Given the description of an element on the screen output the (x, y) to click on. 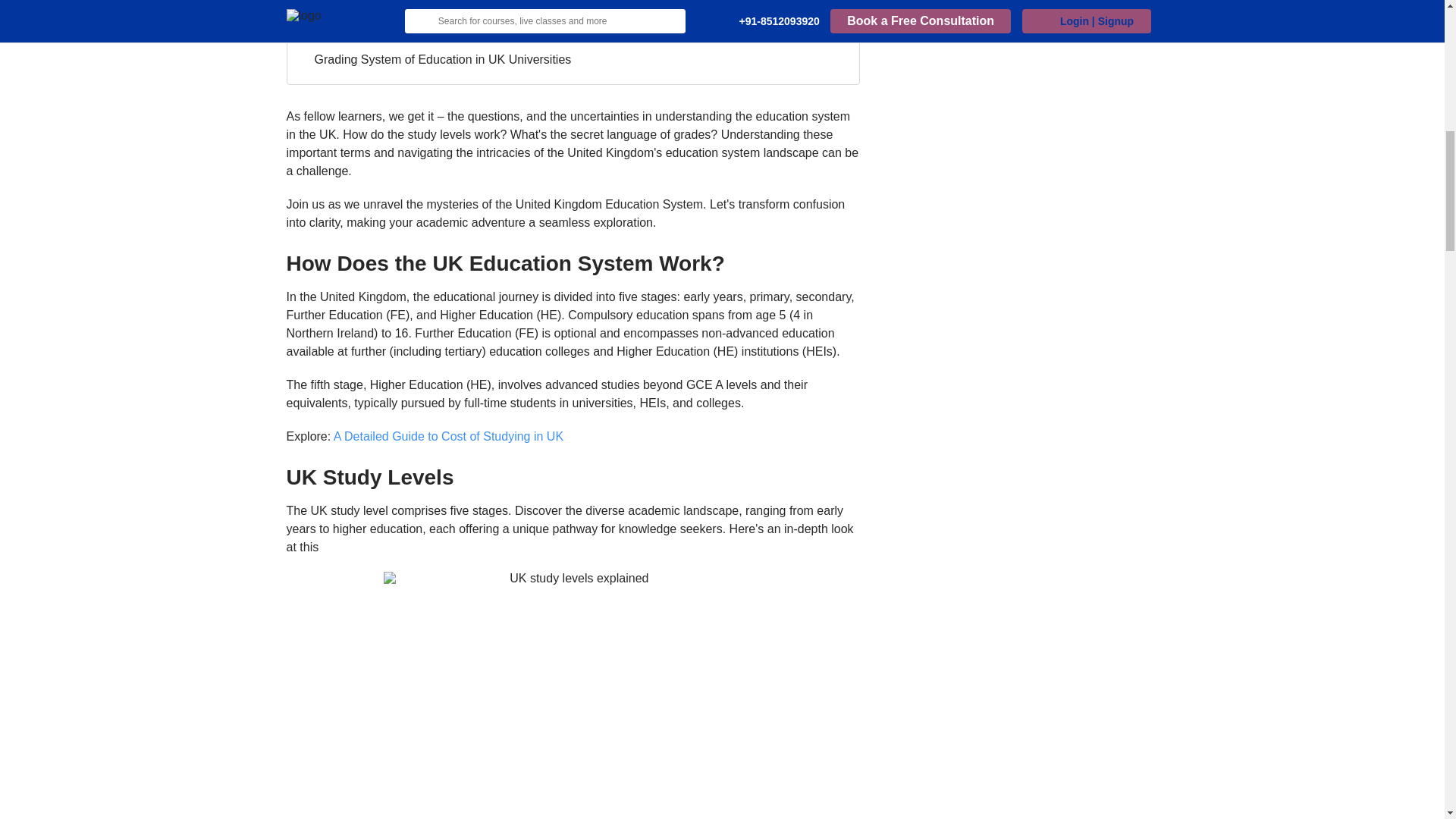
Grading System of Education in UK Universities (442, 59)
A Detailed Guide to Cost of Studying in UK (448, 436)
Credit System of Education in the UK (413, 34)
